Given the description of an element on the screen output the (x, y) to click on. 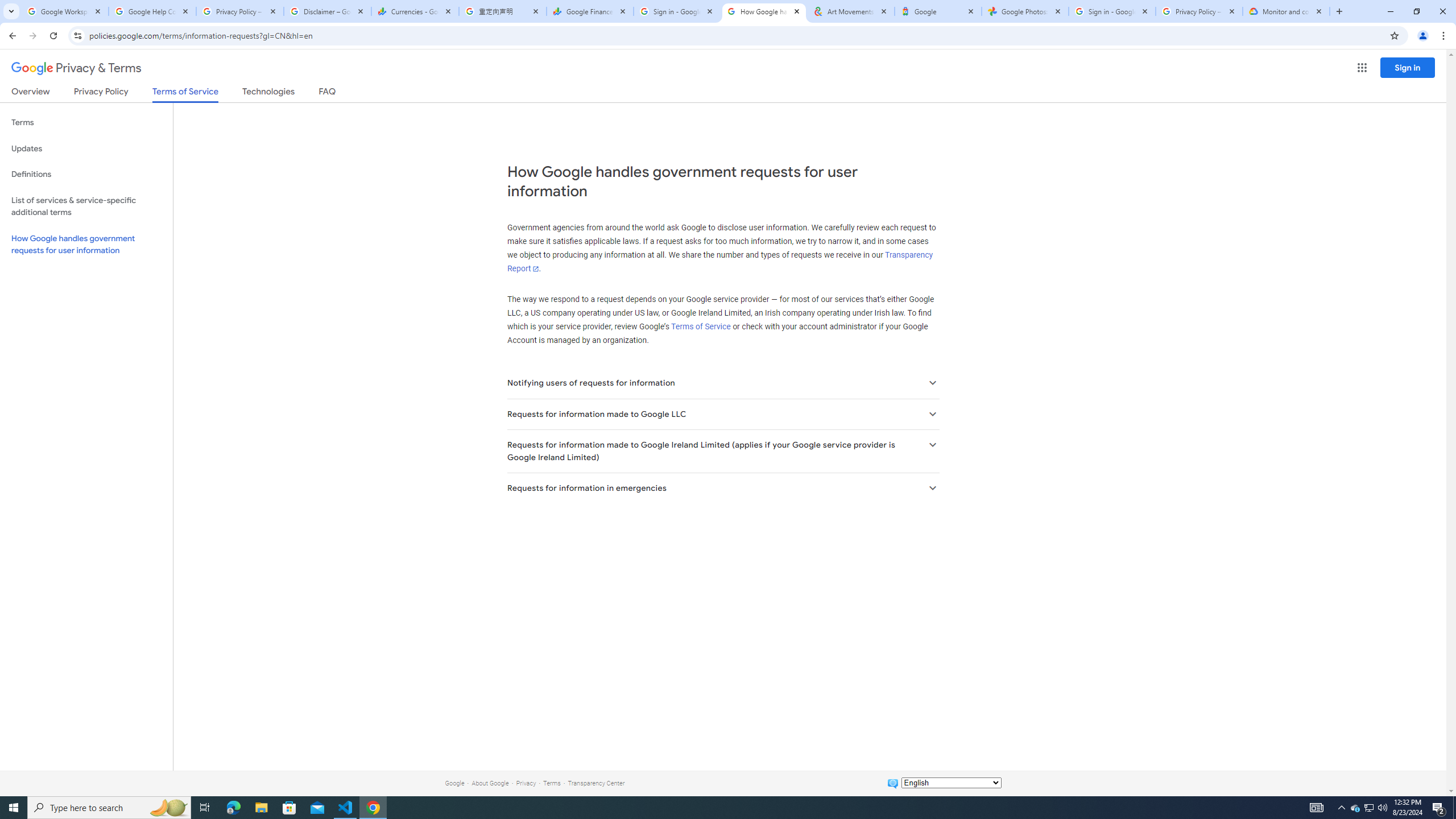
Requests for information in emergencies (722, 488)
Transparency Report (719, 262)
Google Workspace Admin Community (64, 11)
Sign in - Google Accounts (1111, 11)
Sign in - Google Accounts (676, 11)
